Given the description of an element on the screen output the (x, y) to click on. 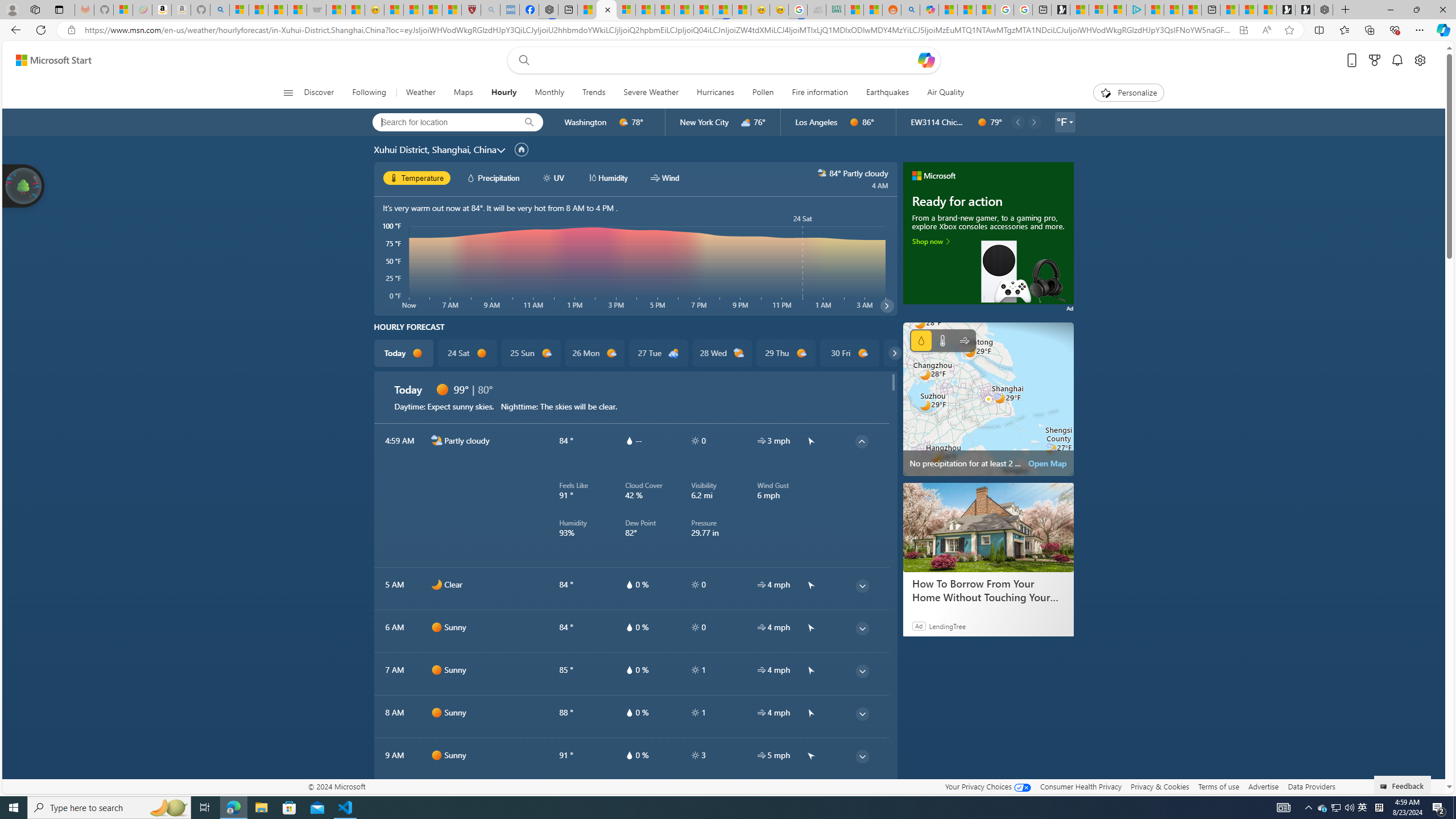
common/carouselChevron (894, 352)
28 Wed d2000 (721, 352)
d3000 (746, 121)
Temperature (942, 340)
common/thinArrow (861, 798)
Today d0000 (403, 352)
locationName/setHomeLocation (520, 149)
Pollen (762, 92)
26 Mon d1000 (594, 352)
